Given the description of an element on the screen output the (x, y) to click on. 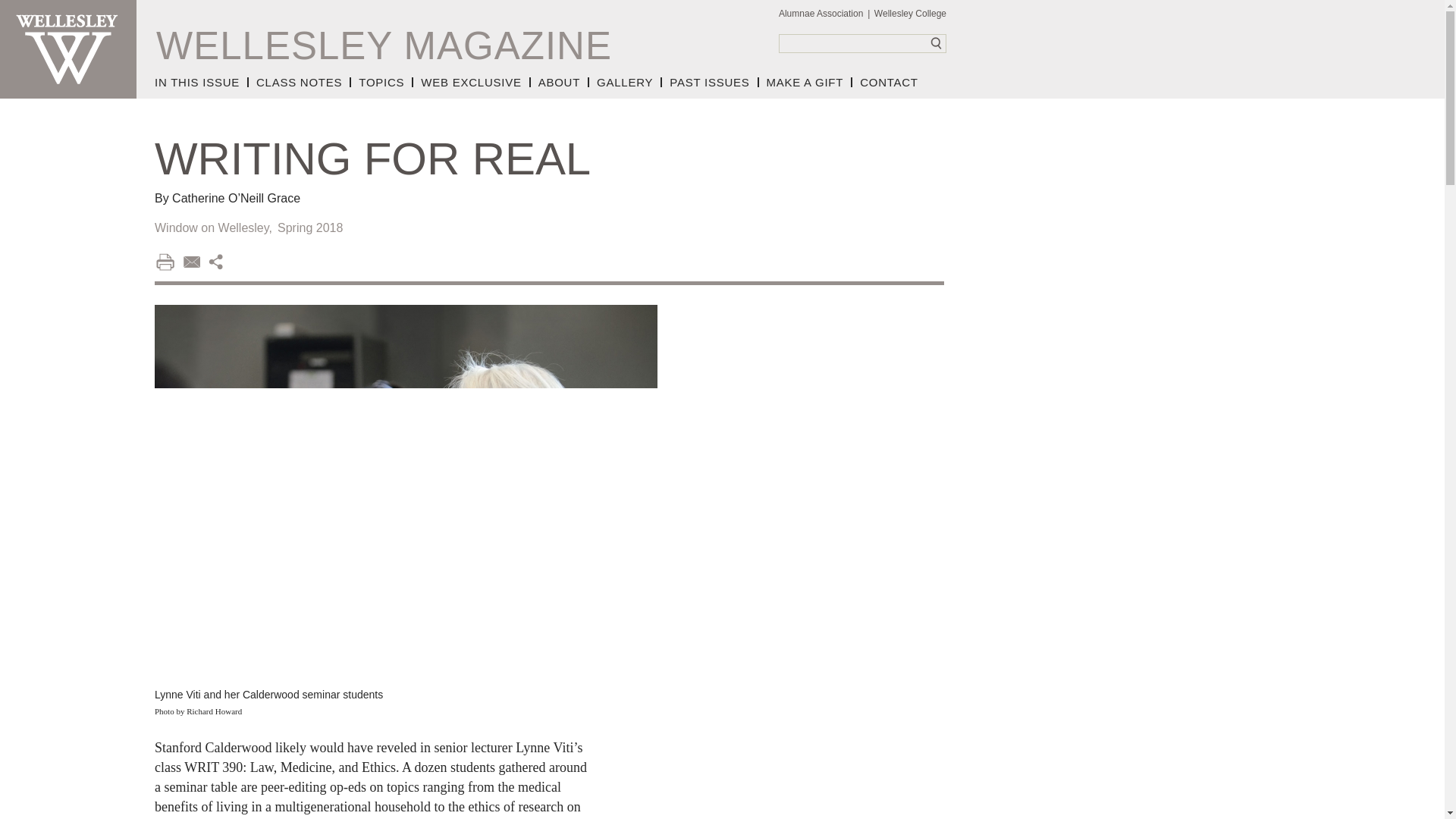
WELLESLEY MAGAZINE (383, 45)
Alumnae Association (824, 13)
WEB EXCLUSIVE (471, 81)
PAST ISSUES (710, 81)
TOPICS (381, 81)
IN THIS ISSUE (201, 81)
Alumnae Association (824, 13)
CLASS NOTES (299, 81)
Home (68, 49)
Home (383, 45)
ABOUT (560, 81)
Wellesley College (910, 13)
GALLERY (625, 81)
Enter the terms you wish to search for. (862, 43)
MAKE A GIFT (805, 81)
